Given the description of an element on the screen output the (x, y) to click on. 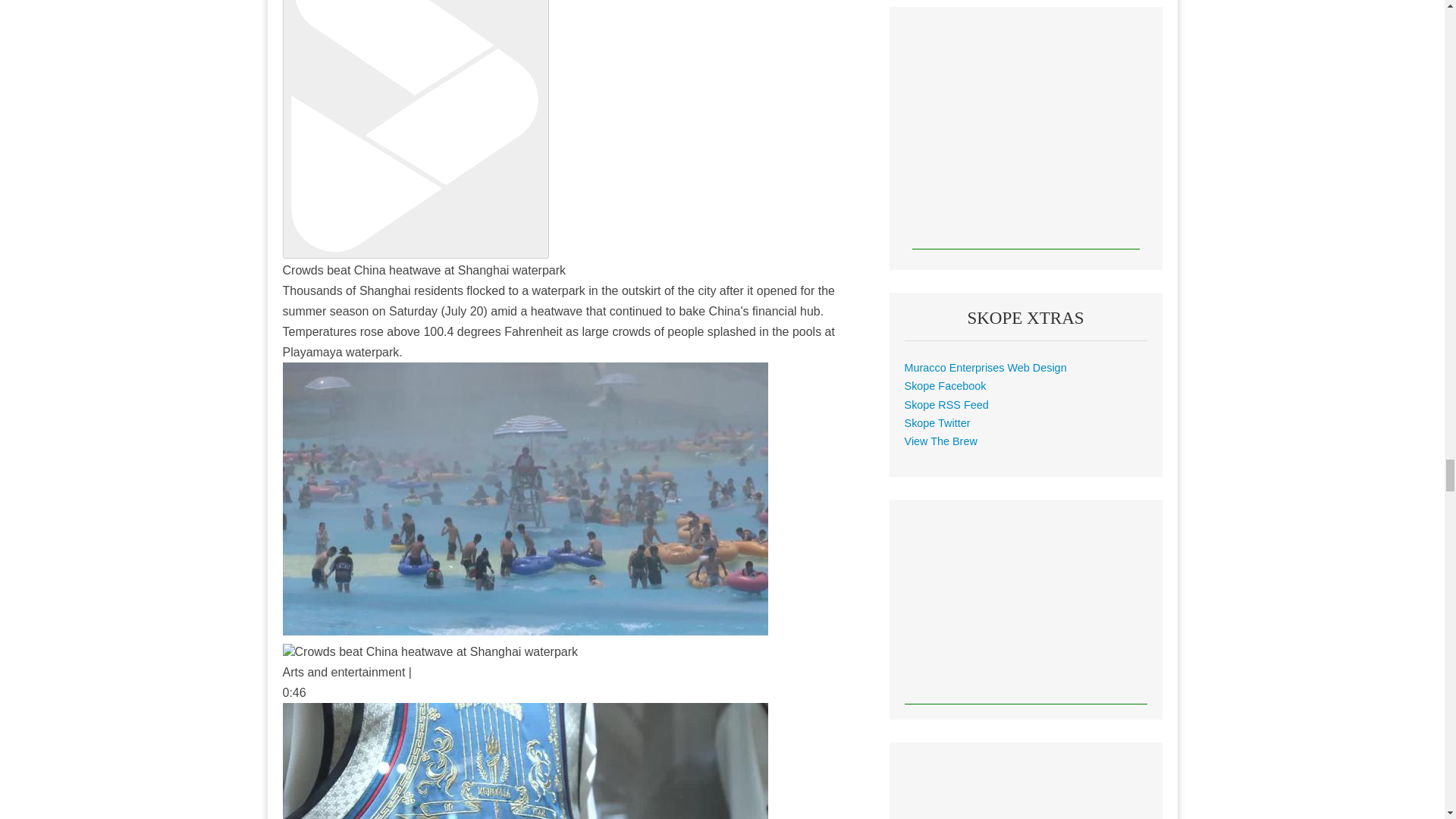
Skopemag.com RSS Feed (946, 404)
